Given the description of an element on the screen output the (x, y) to click on. 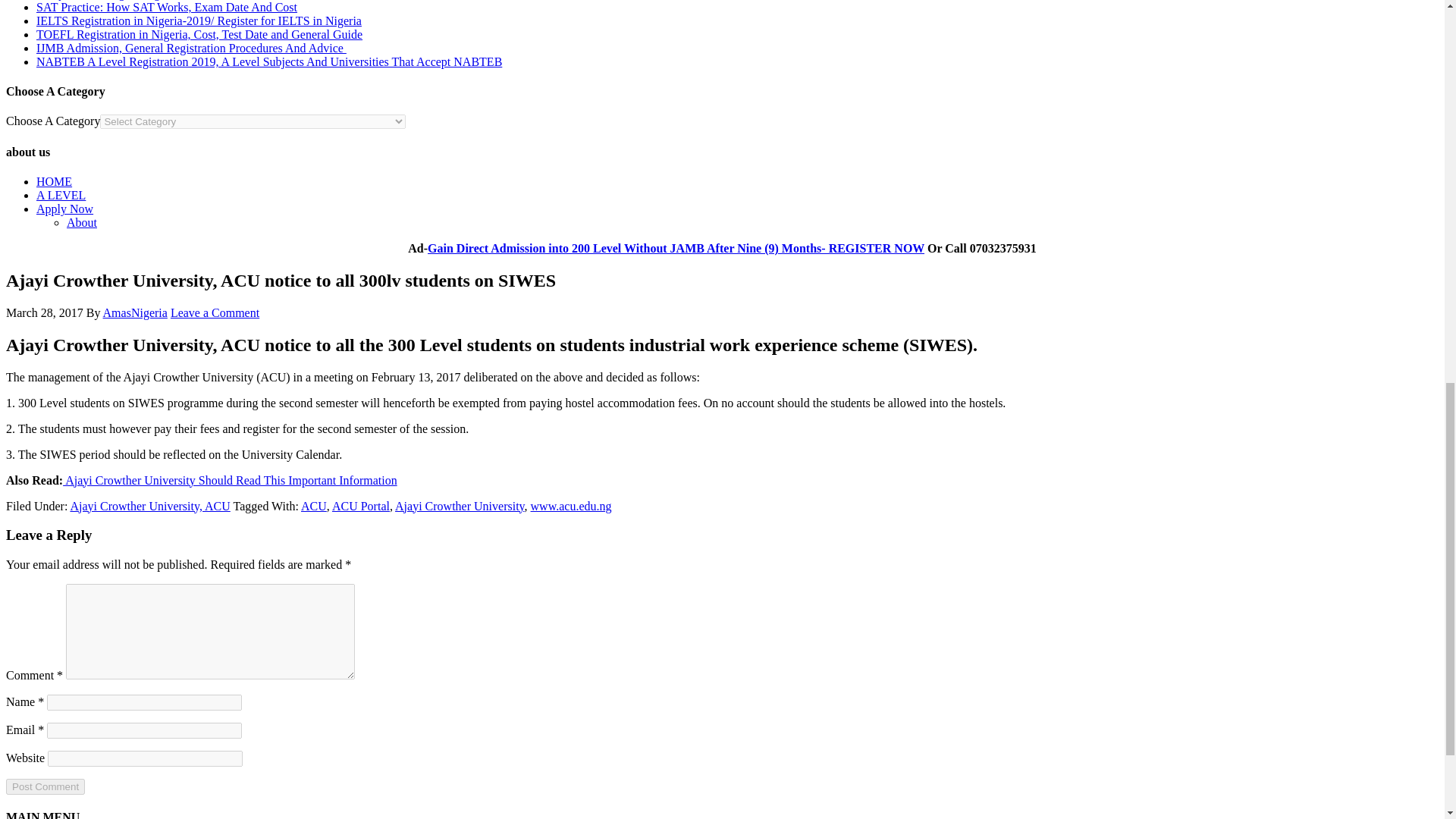
HOME (53, 181)
Leave a Comment (214, 312)
Apply Now (64, 208)
IJMB Admission, General Registration Procedures And Advice  (191, 47)
A LEVEL (60, 195)
ACU (313, 505)
Post Comment (44, 786)
About (81, 222)
SAT Practice: How SAT Works, Exam Date And Cost (166, 6)
Ajayi Crowther University, ACU (149, 505)
AmasNigeria (135, 312)
ACU Portal (360, 505)
